Given the description of an element on the screen output the (x, y) to click on. 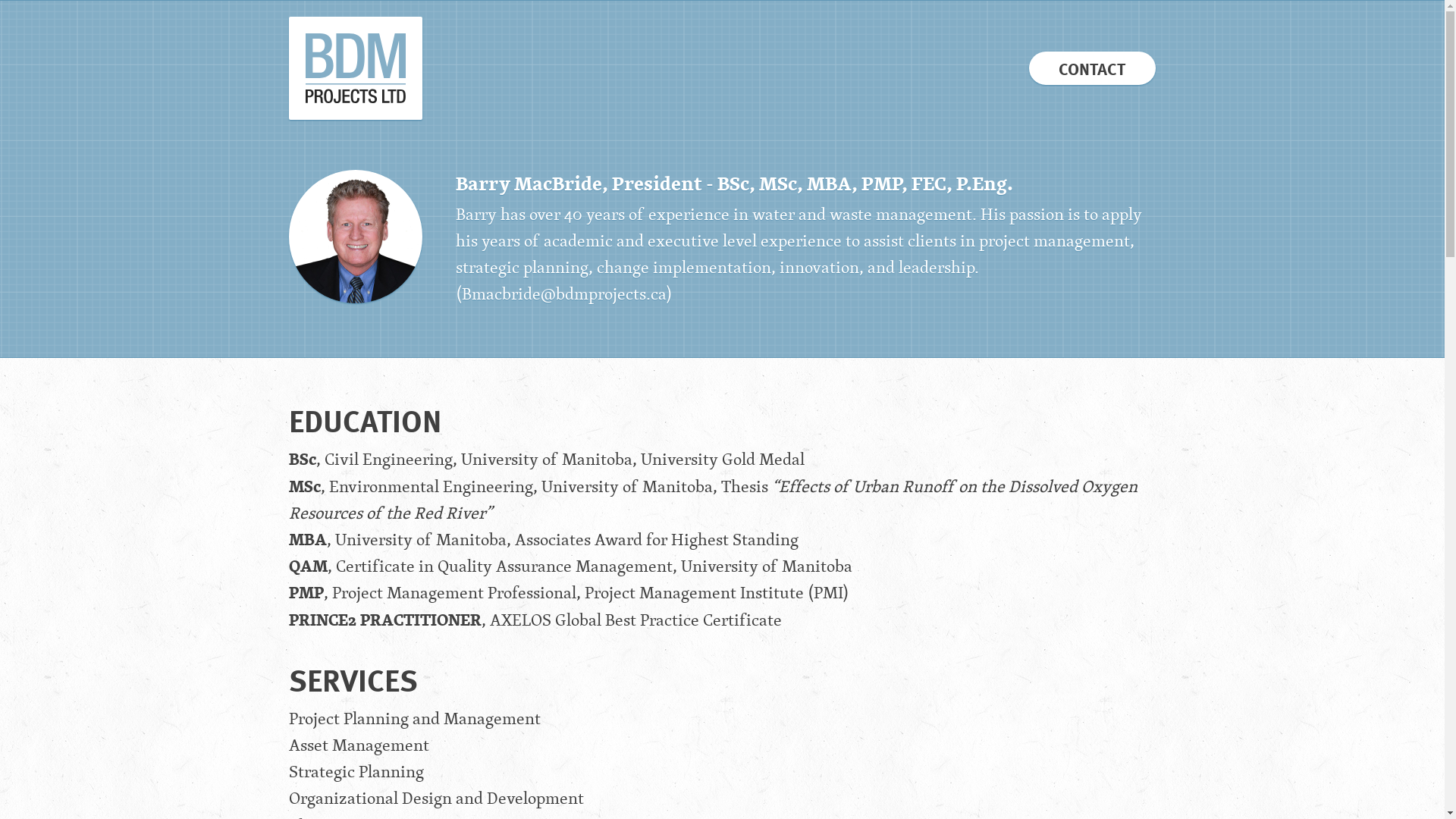
CONTACT Element type: text (1092, 67)
